Given the description of an element on the screen output the (x, y) to click on. 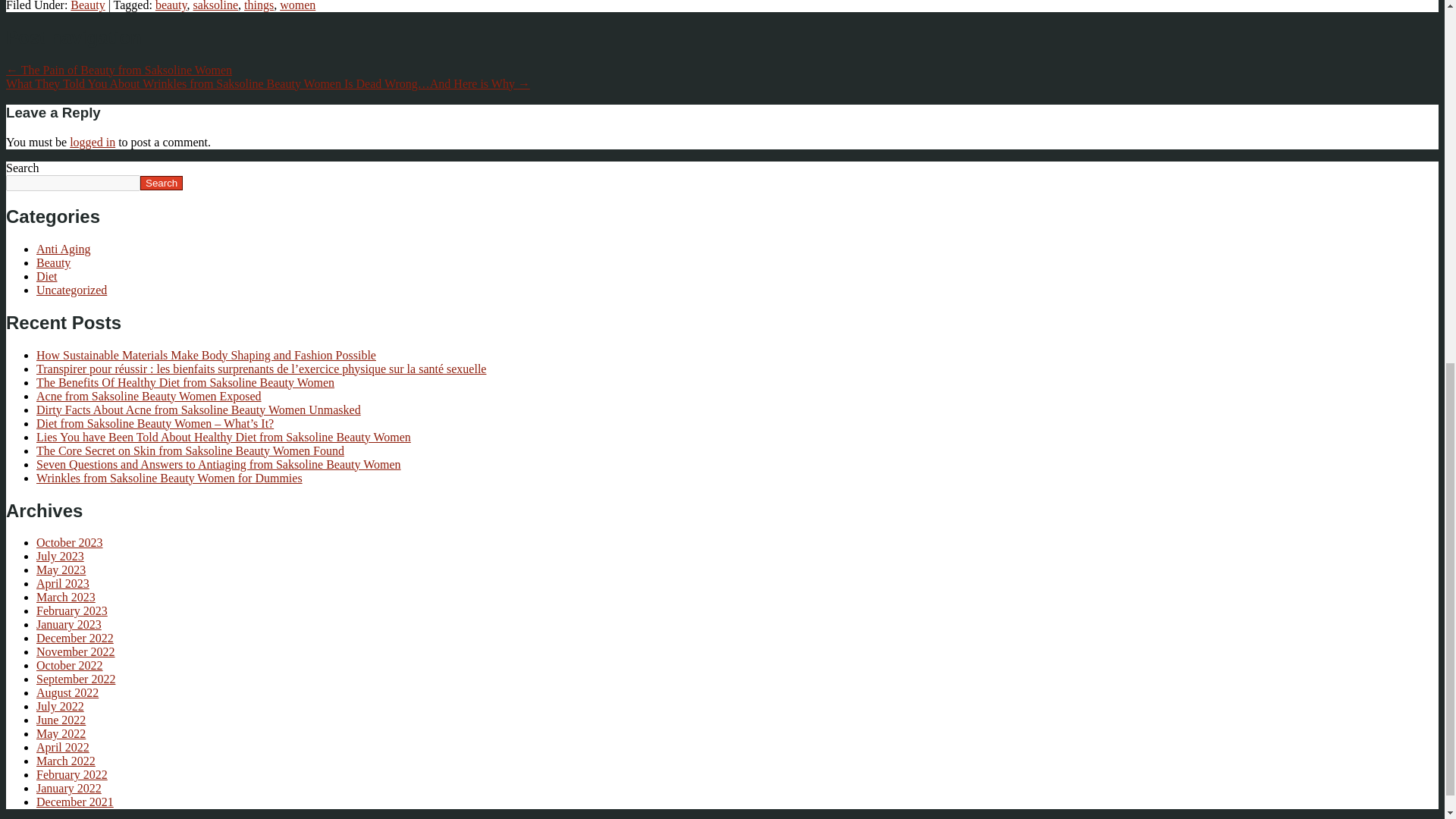
logged in (92, 141)
women (297, 5)
saksoline (215, 5)
Wrinkles from Saksoline Beauty Women for Dummies (169, 477)
May 2023 (60, 569)
The Core Secret on Skin from Saksoline Beauty Women Found (189, 450)
Search (161, 183)
February 2023 (71, 610)
things (258, 5)
April 2023 (62, 583)
Anti Aging (63, 248)
Beauty (86, 5)
Uncategorized (71, 289)
